Given the description of an element on the screen output the (x, y) to click on. 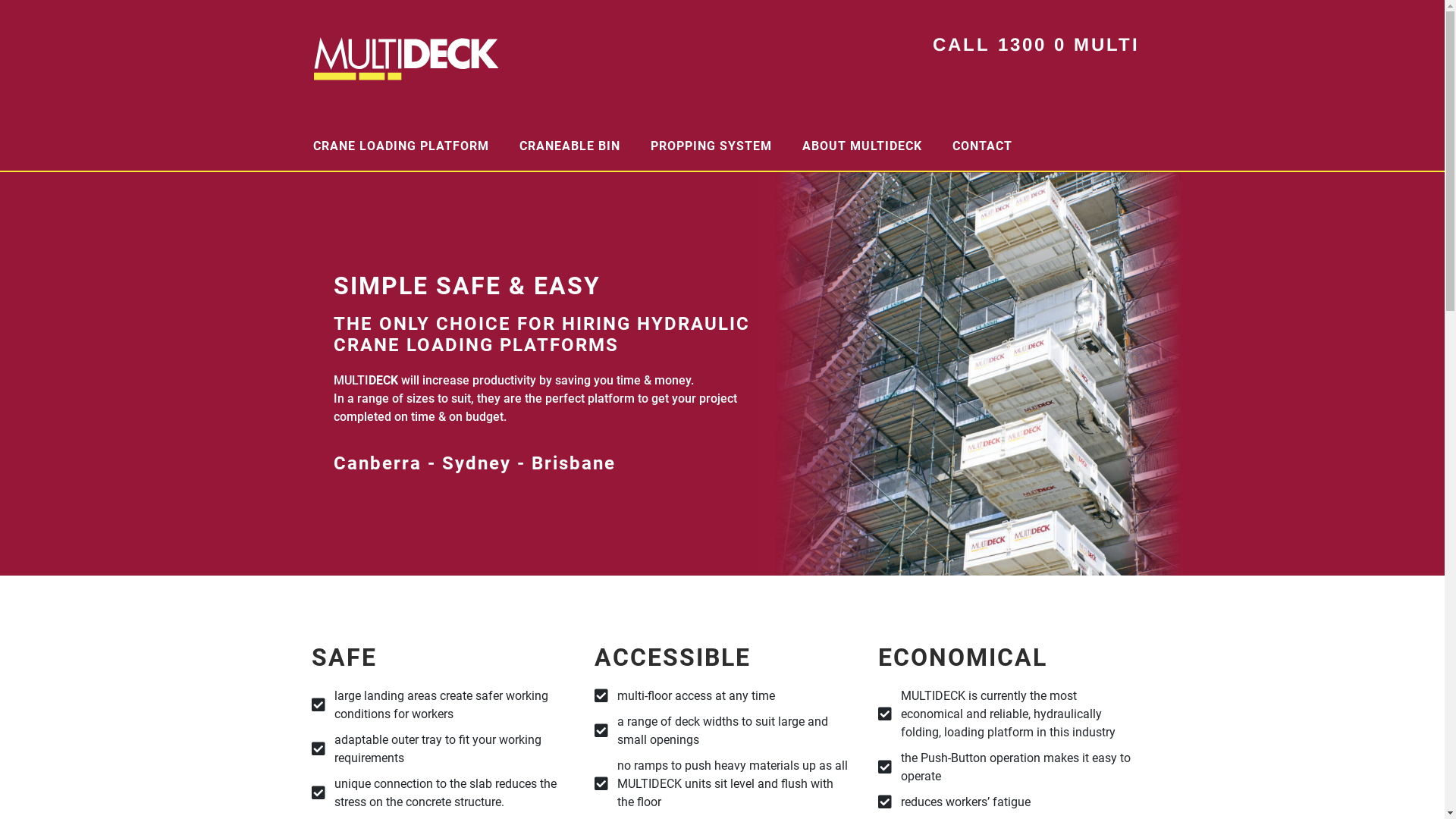
CONTACT Element type: text (982, 145)
CRANE LOADING PLATFORM Element type: text (400, 145)
CRANEABLE BIN Element type: text (568, 145)
ABOUT MULTIDECK Element type: text (862, 145)
CALL 1300 0 MULTI Element type: text (1035, 44)
PROPPING SYSTEM Element type: text (711, 145)
